Given the description of an element on the screen output the (x, y) to click on. 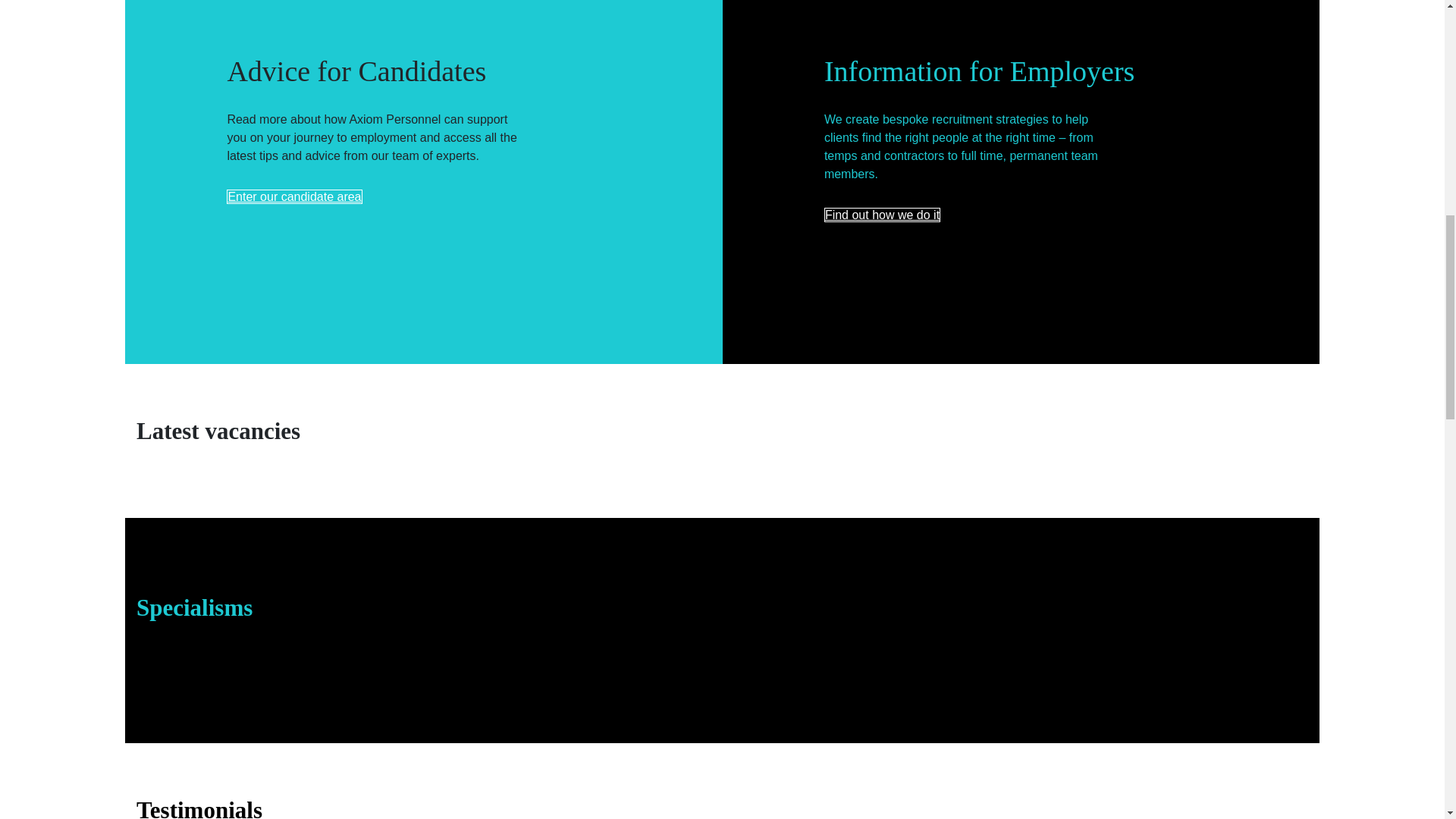
Find out how we do it (882, 214)
Enter our candidate area (294, 196)
